Given the description of an element on the screen output the (x, y) to click on. 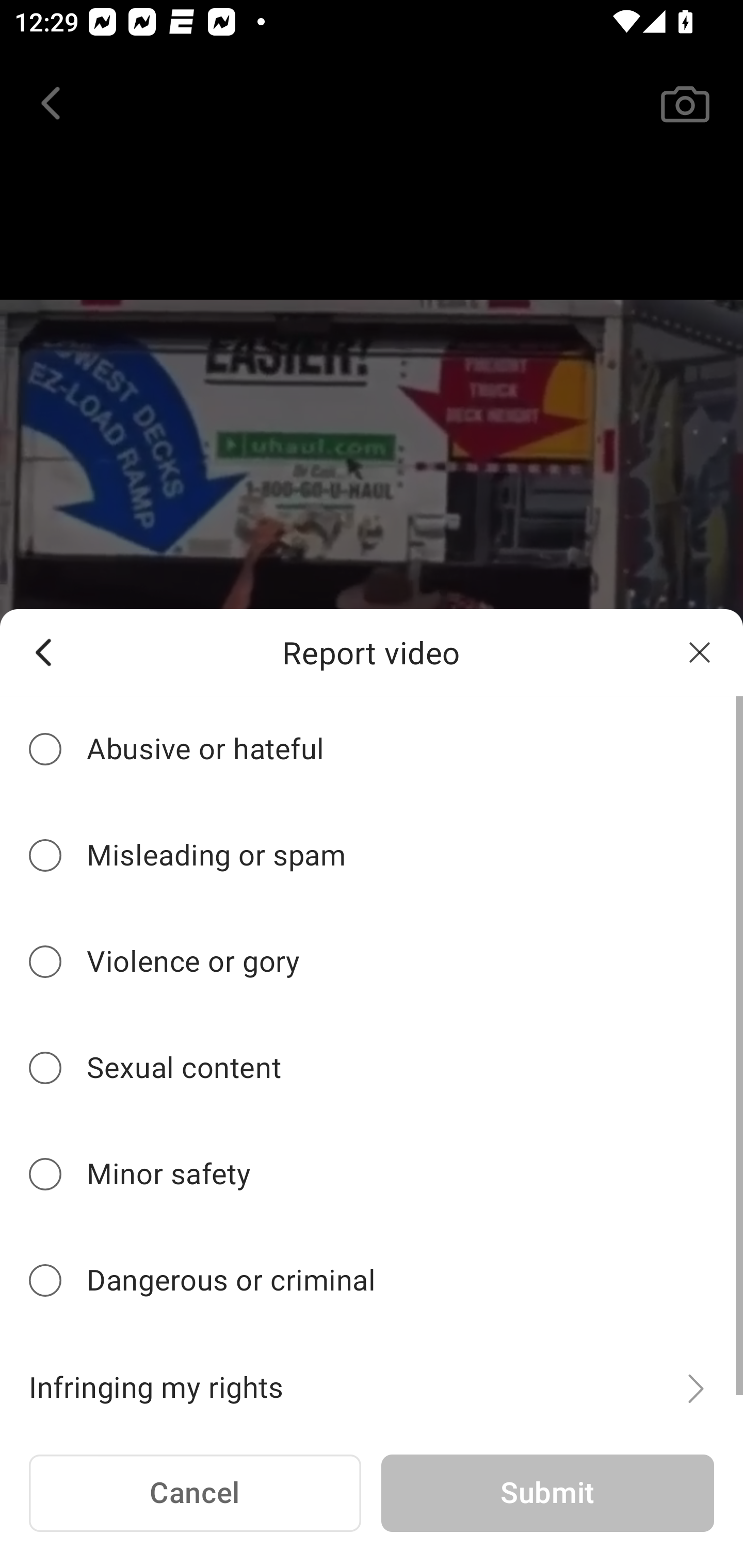
Abusive or hateful (371, 749)
Misleading or spam (371, 855)
Violence or gory (371, 961)
Sexual content (371, 1067)
Minor safety (371, 1174)
Dangerous or criminal (371, 1280)
Infringing my rights (371, 1376)
Cancel (194, 1493)
Submit (547, 1493)
